Given the description of an element on the screen output the (x, y) to click on. 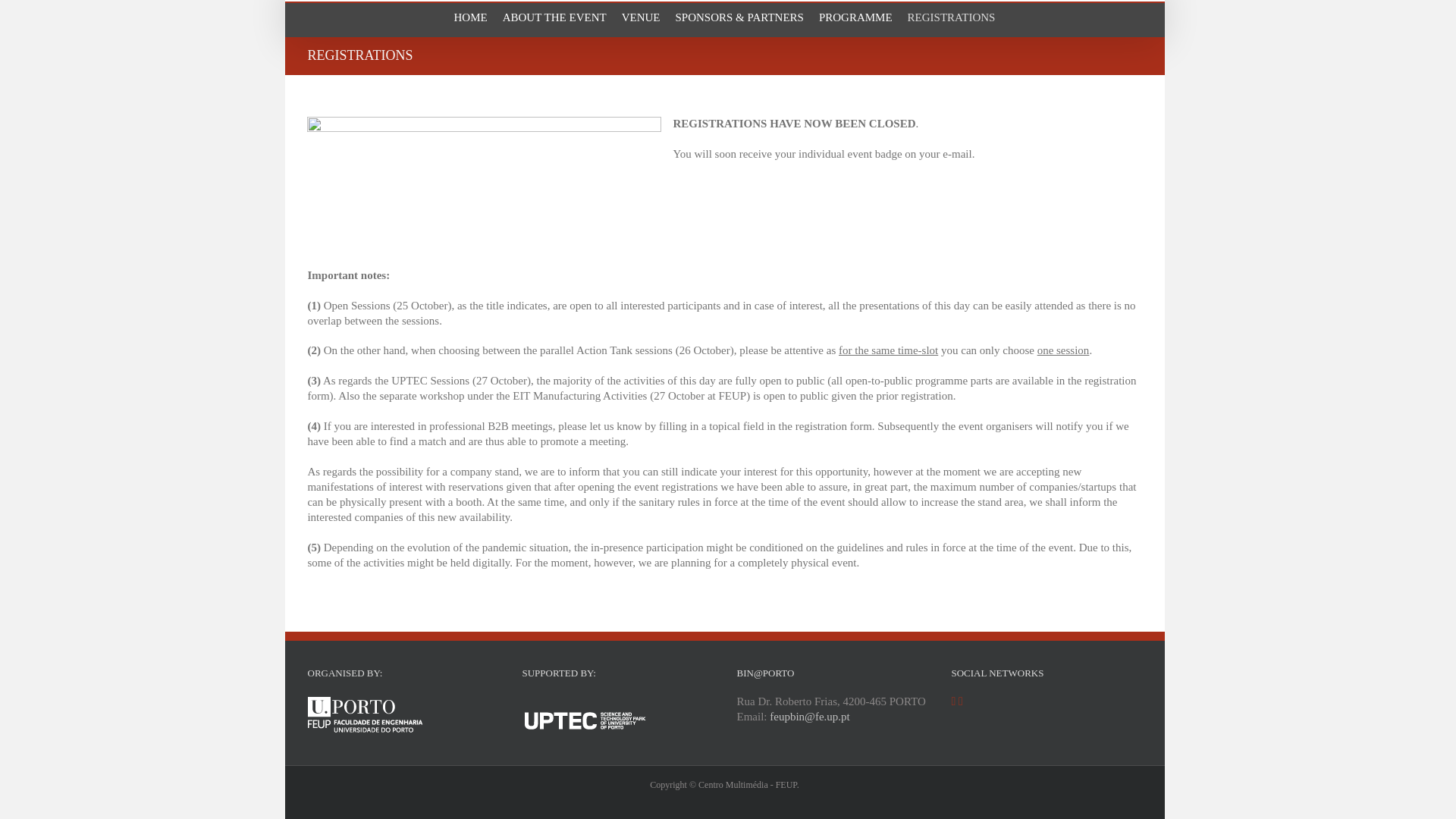
VENUE (641, 18)
REGISTRATIONS (951, 18)
PROGRAMME (855, 18)
ABOUT THE EVENT (554, 18)
HOME (470, 18)
